Given the description of an element on the screen output the (x, y) to click on. 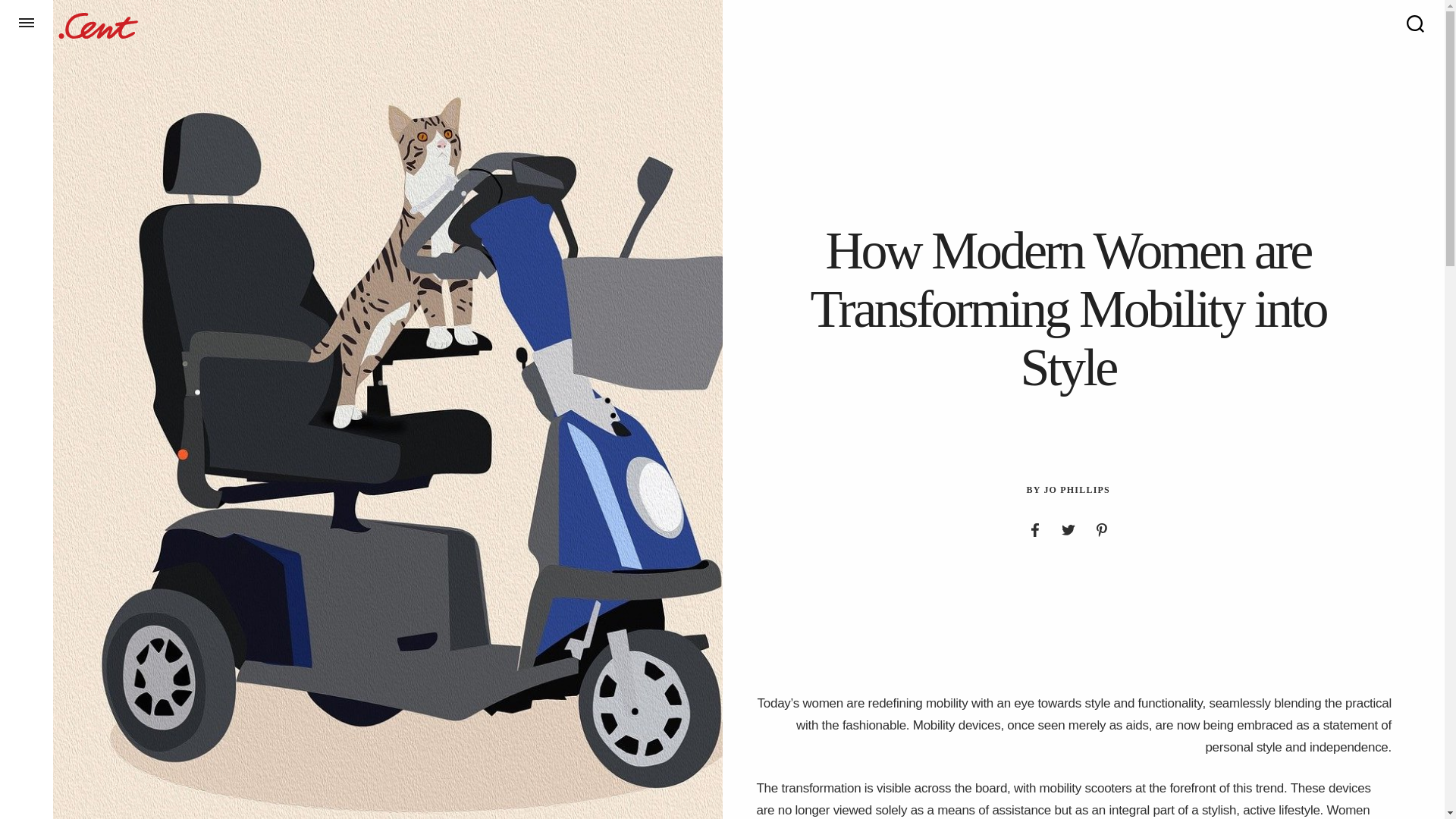
Author Profile (1076, 489)
JO PHILLIPS (1076, 489)
How Modern Women are Transforming Mobility into Style (1068, 308)
